Given the description of an element on the screen output the (x, y) to click on. 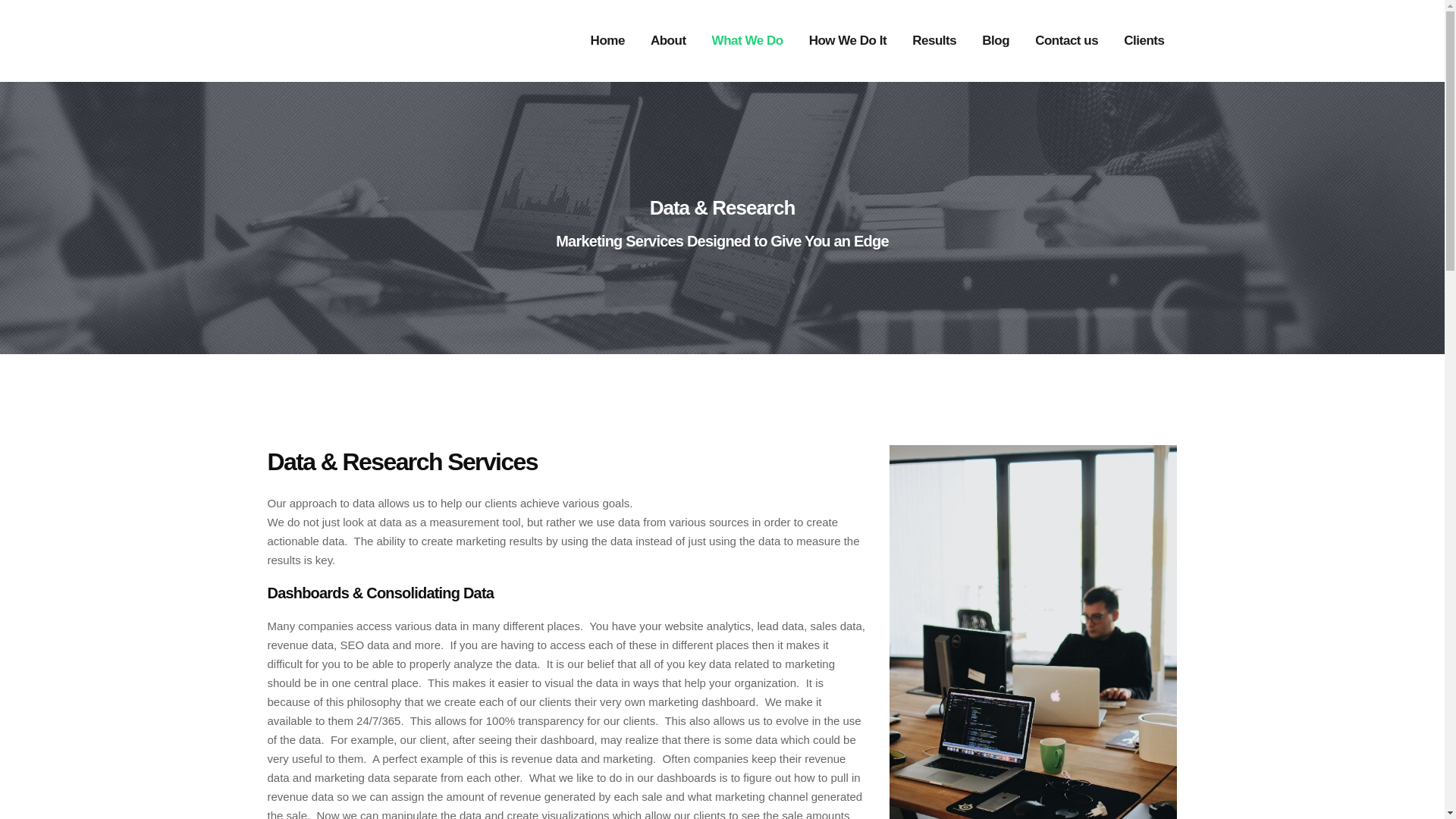
Contact us (1066, 40)
What We Do (747, 40)
How We Do It (847, 40)
